Given the description of an element on the screen output the (x, y) to click on. 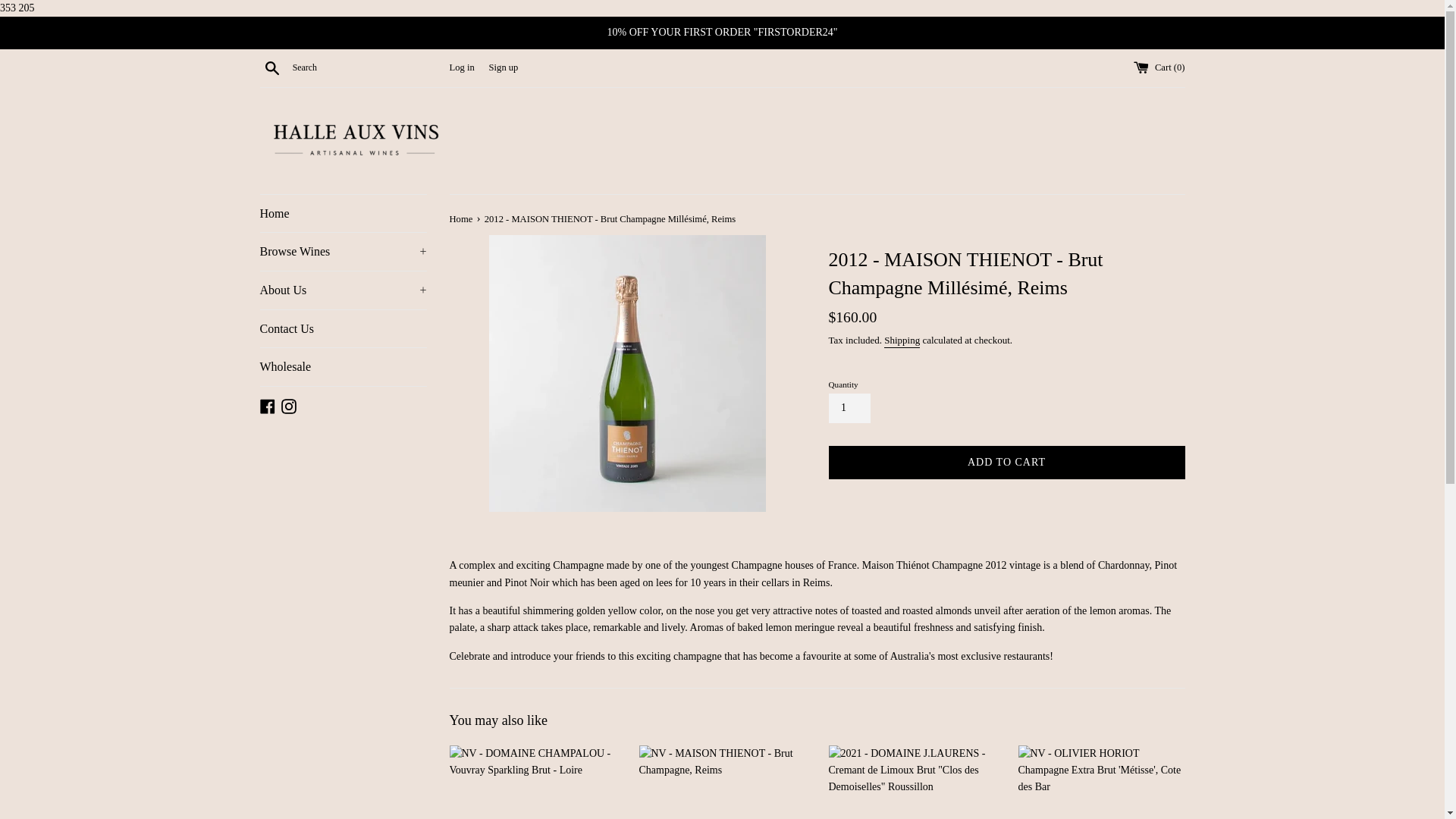
Search (271, 67)
Back to the frontpage (461, 218)
Home (342, 213)
Sign up (503, 67)
NV - DOMAINE CHAMPALOU - Vouvray Sparkling Brut - Loire (531, 782)
NV - MAISON THIENOT - Brut Champagne, Reims (722, 782)
Log in (461, 67)
1 (848, 407)
Halle aux Vins  on Facebook (267, 405)
